Given the description of an element on the screen output the (x, y) to click on. 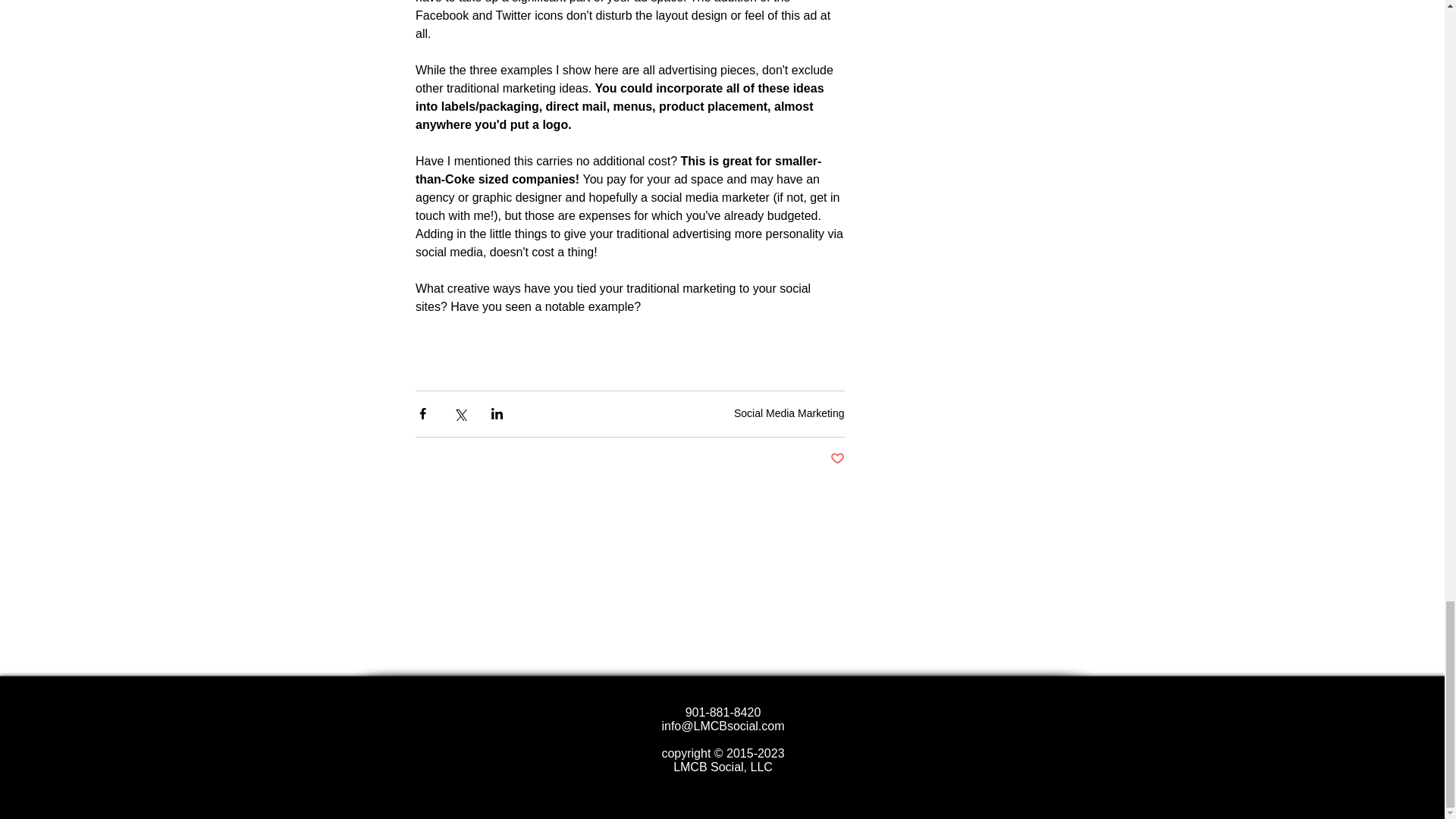
Post not marked as liked (836, 458)
Social Media Marketing (788, 413)
